Given the description of an element on the screen output the (x, y) to click on. 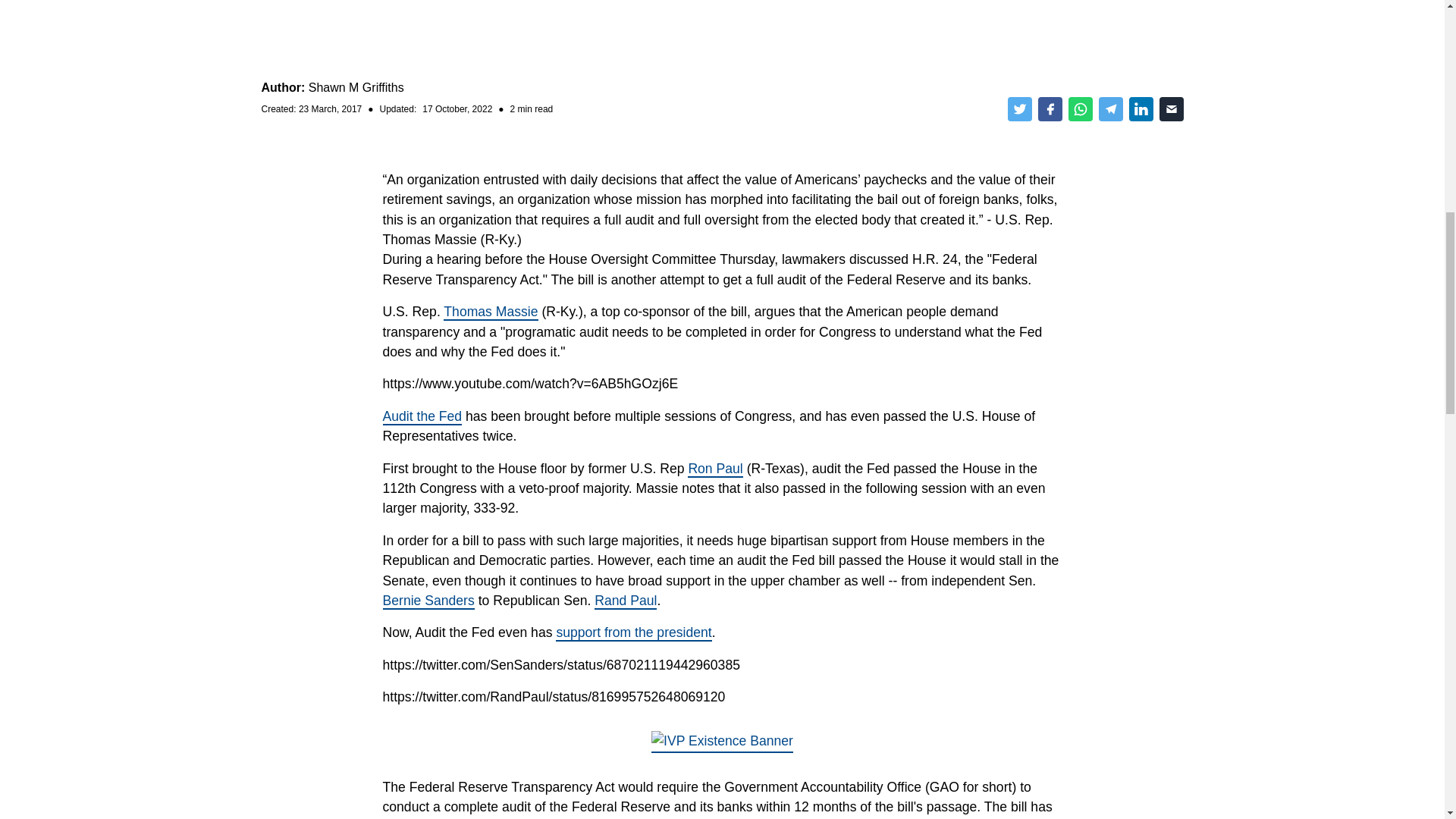
support from the president (633, 632)
Bernie Sanders (427, 600)
Rand Paul (625, 600)
Ron Paul (714, 469)
Thomas Massie (490, 312)
Audit the Fed (421, 416)
Shawn M Griffiths (356, 87)
